Given the description of an element on the screen output the (x, y) to click on. 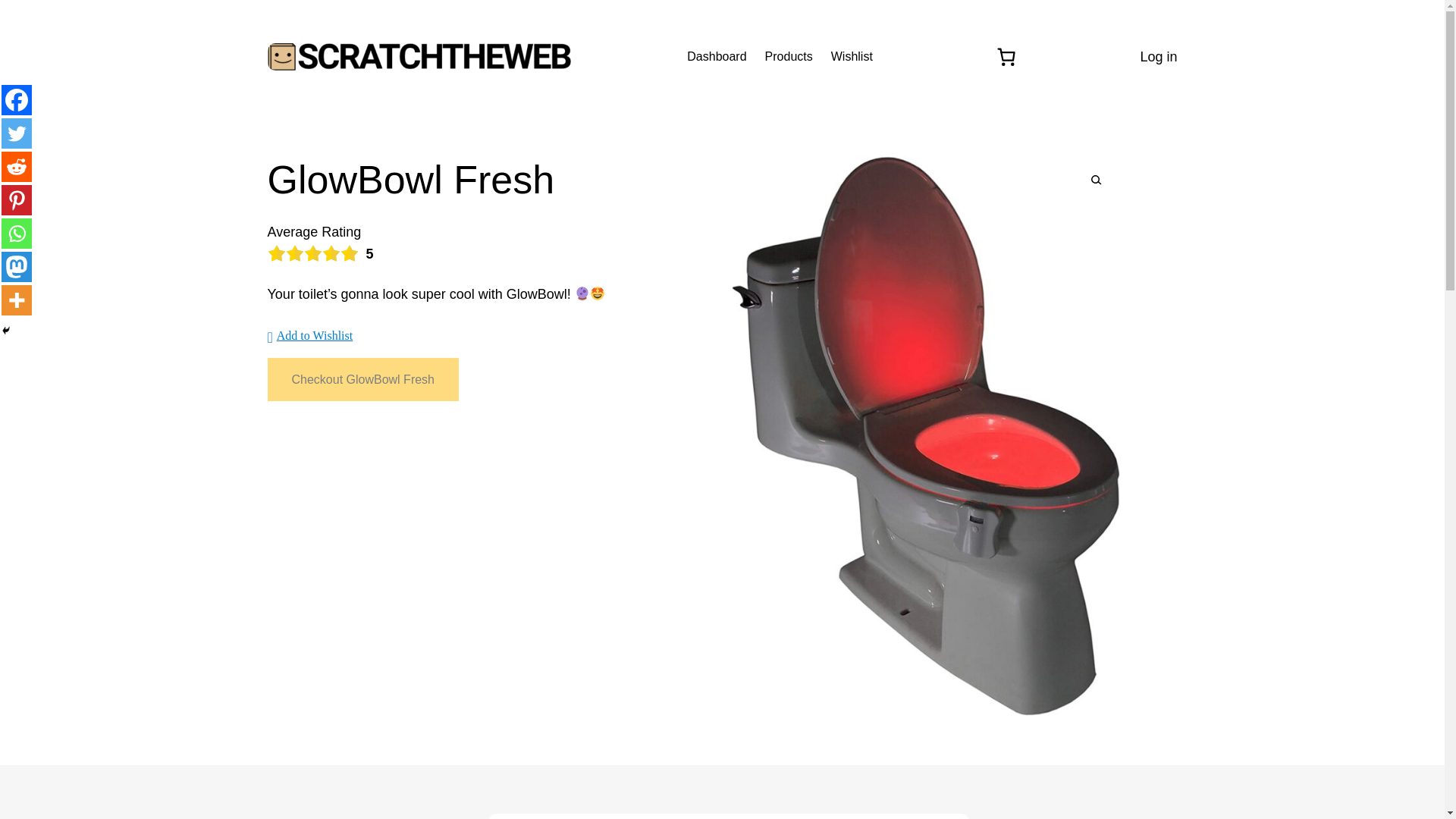
Reddit (16, 166)
Hide (5, 330)
More (16, 300)
Wishlist (851, 56)
Add to Wishlist (309, 335)
Log in (1158, 56)
Twitter (16, 132)
Dashboard (716, 56)
Products (788, 56)
Whatsapp (16, 233)
Checkout GlowBowl Fresh (362, 379)
Pinterest (16, 200)
Facebook (16, 100)
Mastodon (16, 266)
